Given the description of an element on the screen output the (x, y) to click on. 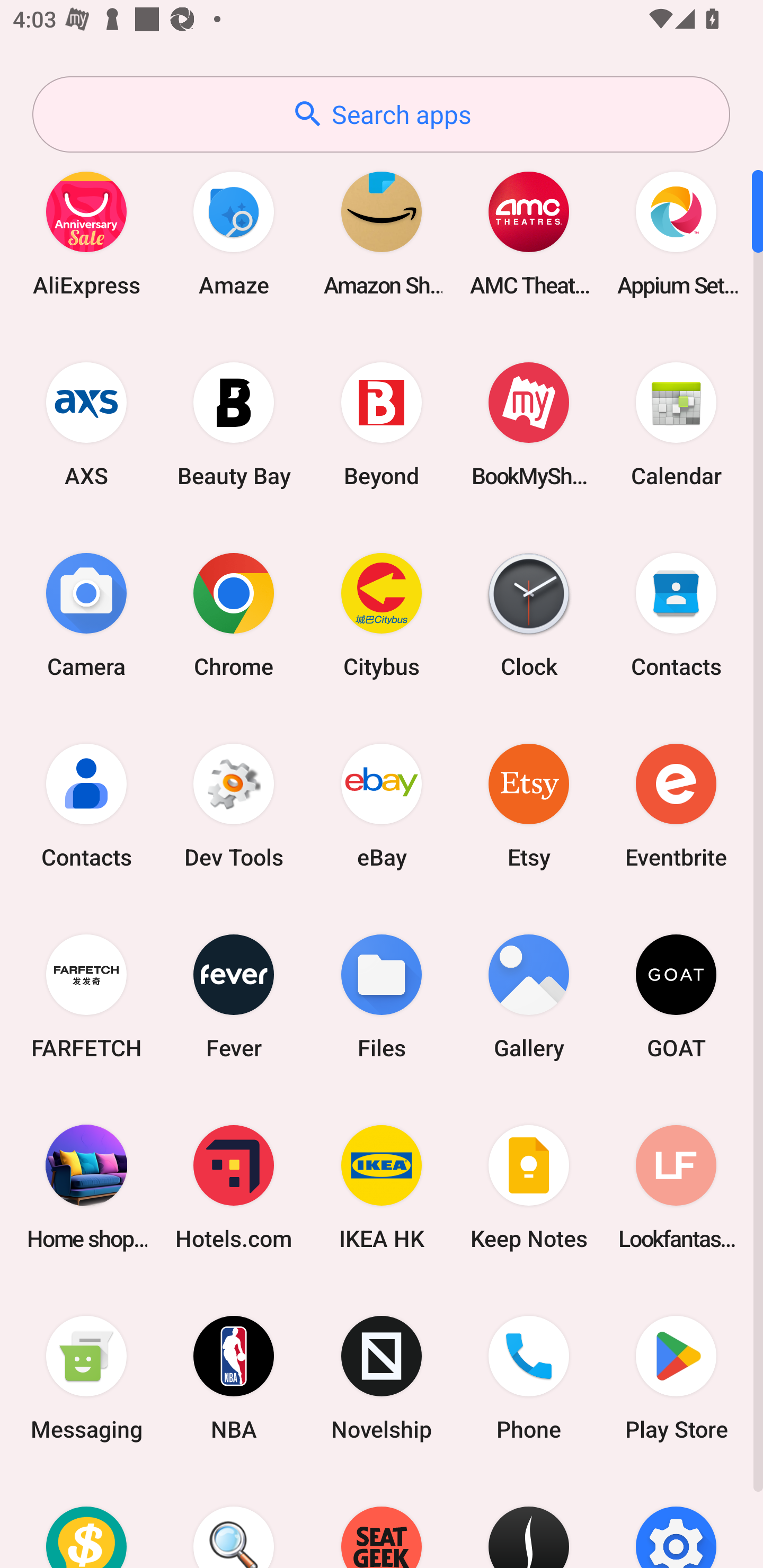
  Search apps (381, 114)
AliExpress (86, 233)
Amaze (233, 233)
Amazon Shopping (381, 233)
AMC Theatres (528, 233)
Appium Settings (676, 233)
AXS (86, 424)
Beauty Bay (233, 424)
Beyond (381, 424)
BookMyShow (528, 424)
Calendar (676, 424)
Camera (86, 614)
Chrome (233, 614)
Citybus (381, 614)
Clock (528, 614)
Contacts (676, 614)
Contacts (86, 805)
Dev Tools (233, 805)
eBay (381, 805)
Etsy (528, 805)
Eventbrite (676, 805)
FARFETCH (86, 996)
Fever (233, 996)
Files (381, 996)
Gallery (528, 996)
GOAT (676, 996)
Home shopping (86, 1186)
Hotels.com (233, 1186)
IKEA HK (381, 1186)
Keep Notes (528, 1186)
Lookfantastic (676, 1186)
Messaging (86, 1377)
NBA (233, 1377)
Novelship (381, 1377)
Phone (528, 1377)
Play Store (676, 1377)
